Given the description of an element on the screen output the (x, y) to click on. 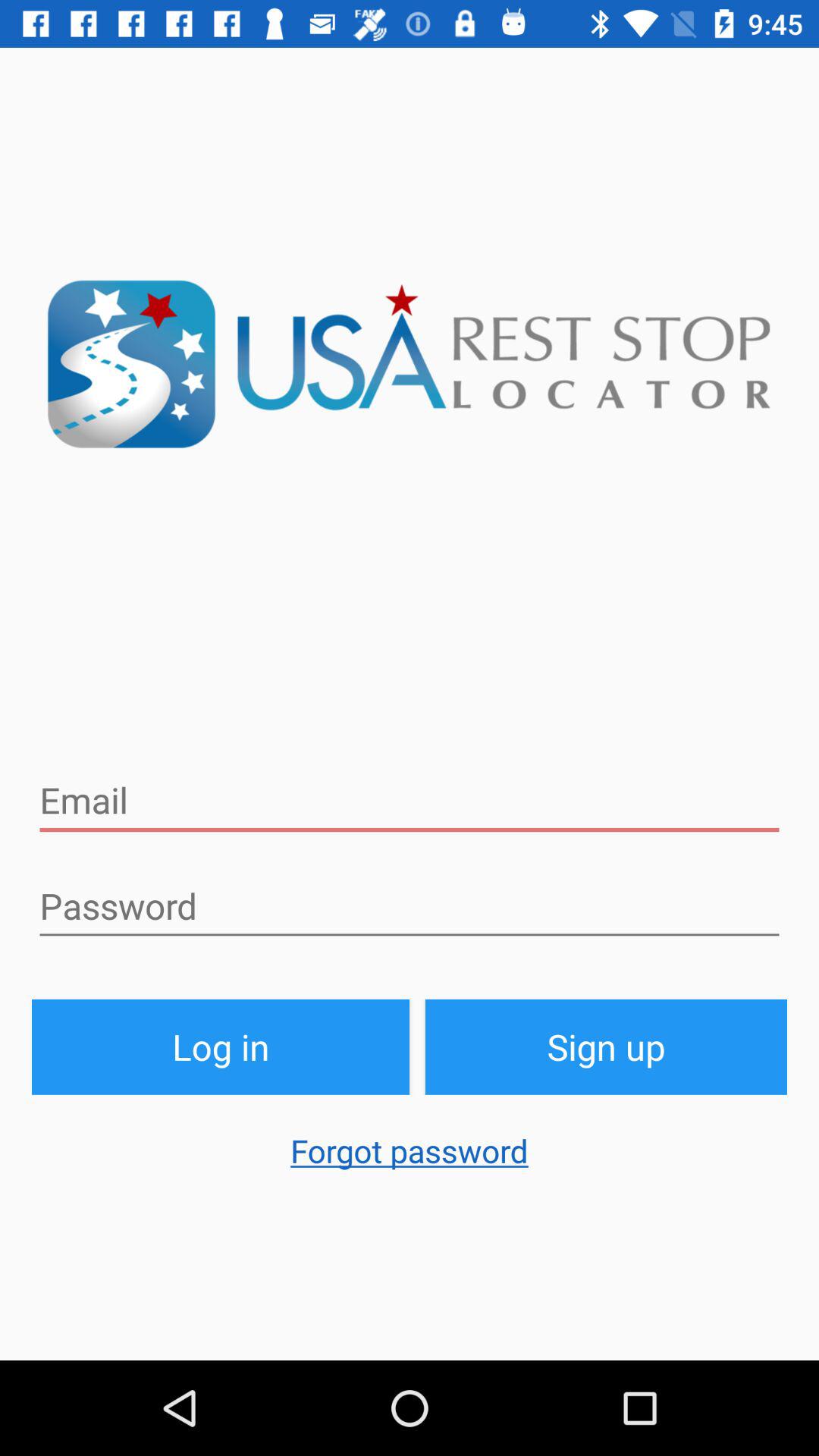
open the sign up (606, 1046)
